Given the description of an element on the screen output the (x, y) to click on. 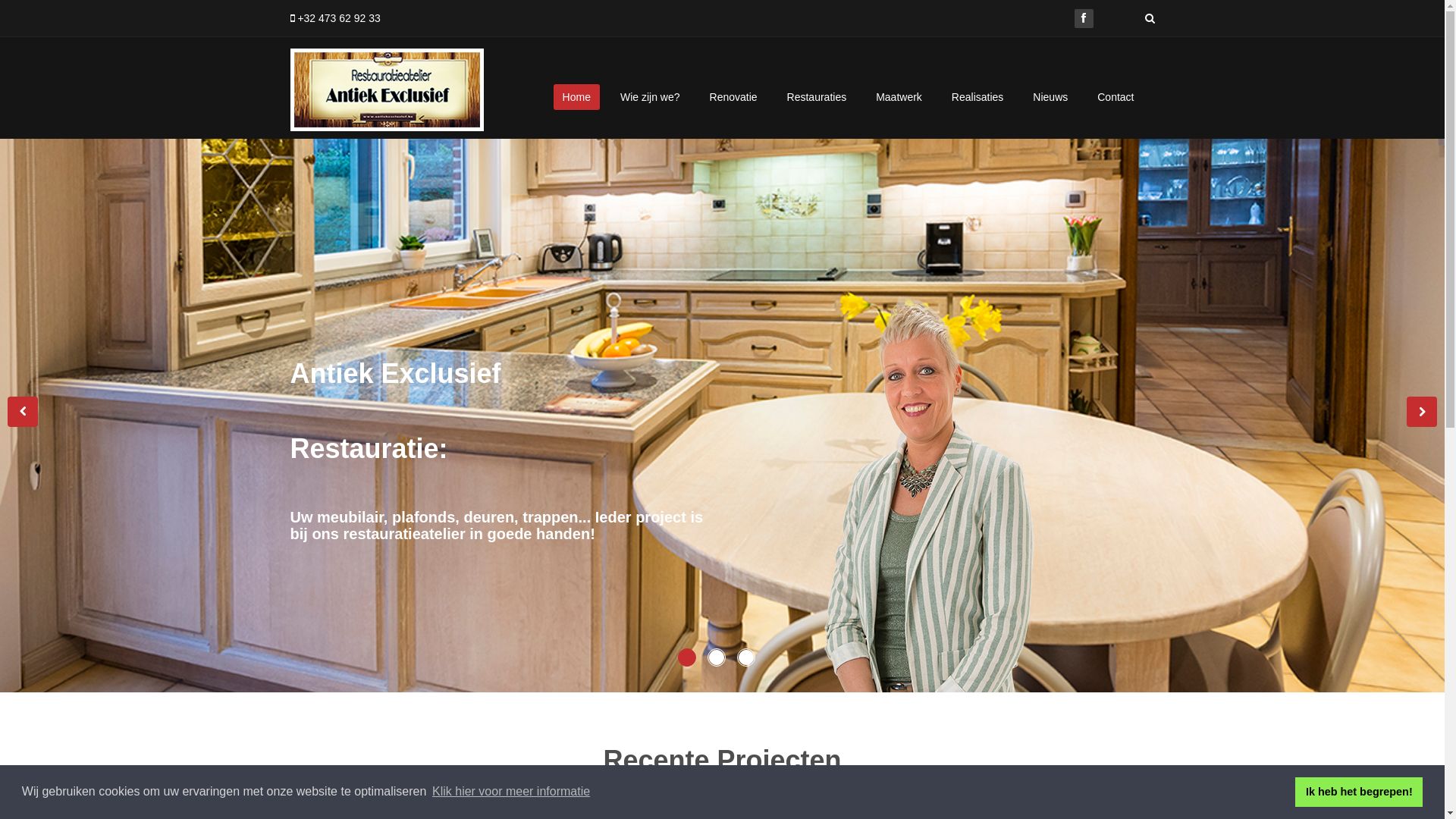
Ik heb het begrepen! Element type: text (1358, 791)
Renovatie Element type: text (733, 96)
Klik hier voor meer informatie Element type: text (510, 791)
Wie zijn we? Element type: text (650, 96)
Home Element type: text (576, 96)
Realisaties Element type: text (977, 96)
Restauraties Element type: text (817, 96)
Nieuws Element type: text (1049, 96)
Maatwerk Element type: text (898, 96)
Contact Element type: text (1115, 96)
